Given the description of an element on the screen output the (x, y) to click on. 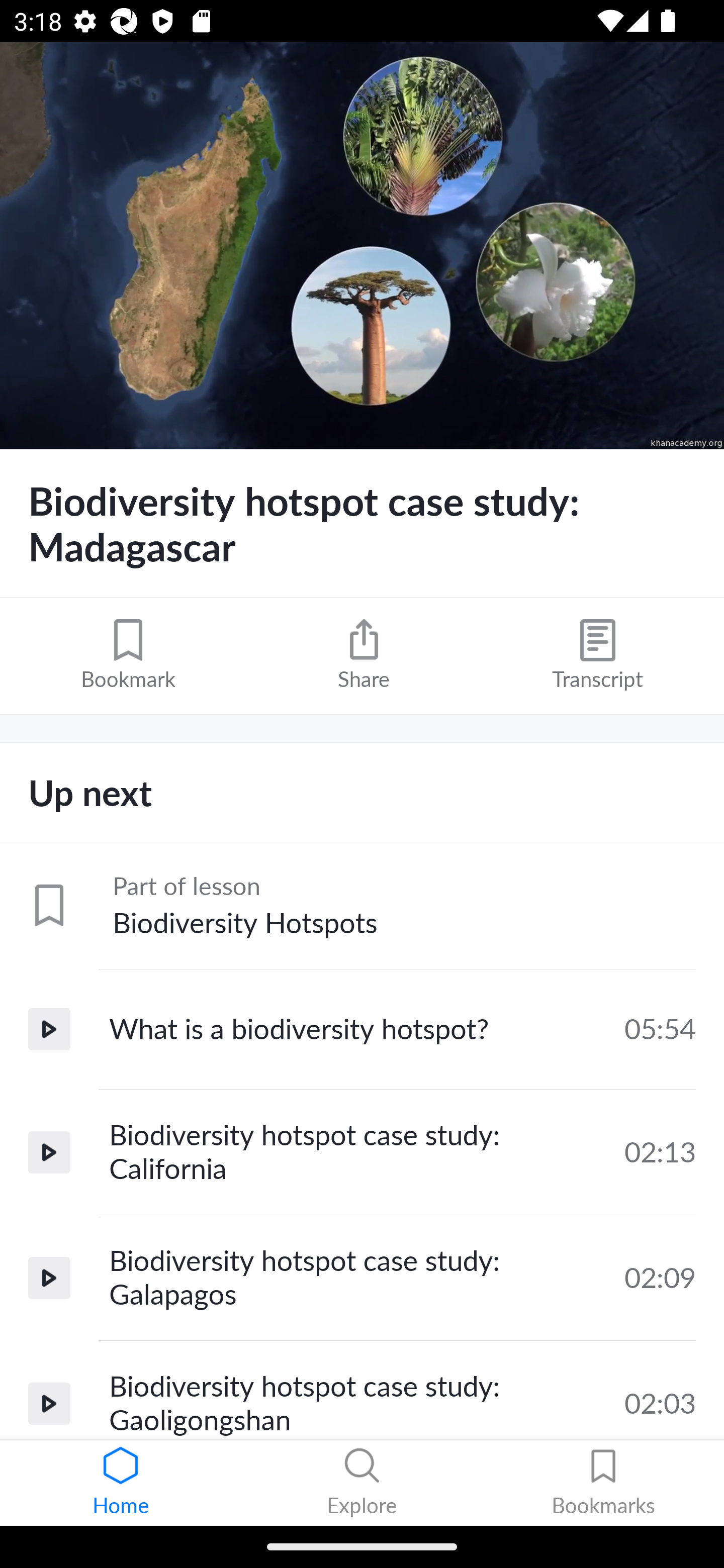
Toggle control visibility (362, 246)
Bookmark (128, 655)
Share (363, 655)
Transcript (596, 655)
Part of lesson Biodiversity Hotspots (362, 905)
What is a biodiversity hotspot? 05:54 (362, 1029)
Biodiversity hotspot case study:  California 02:13 (362, 1152)
Biodiversity hotspot case study:  Galapagos 02:09 (362, 1277)
Home (120, 1482)
Explore (361, 1482)
Bookmarks (603, 1482)
